Given the description of an element on the screen output the (x, y) to click on. 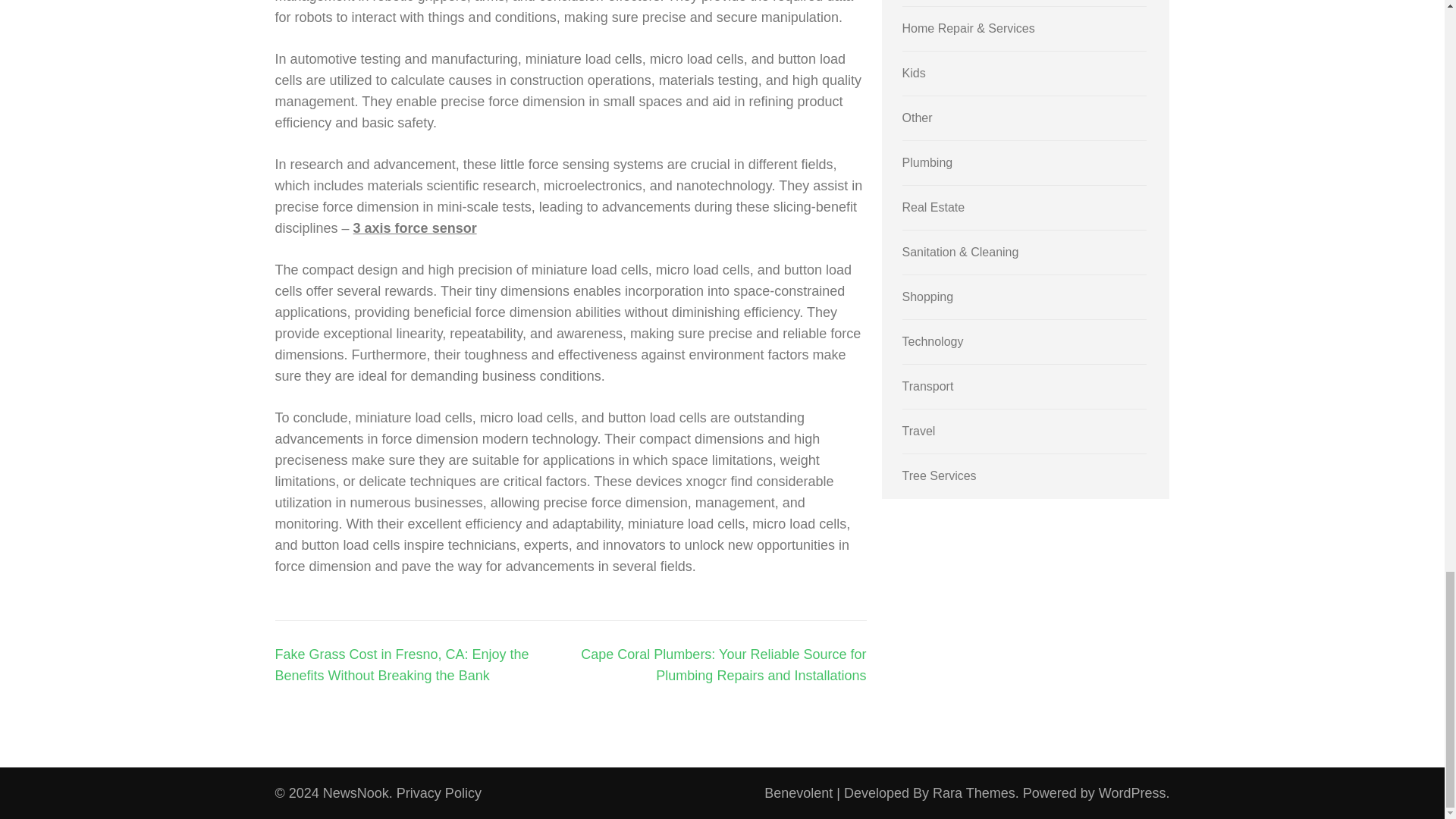
3 axis force sensor (415, 227)
